Given the description of an element on the screen output the (x, y) to click on. 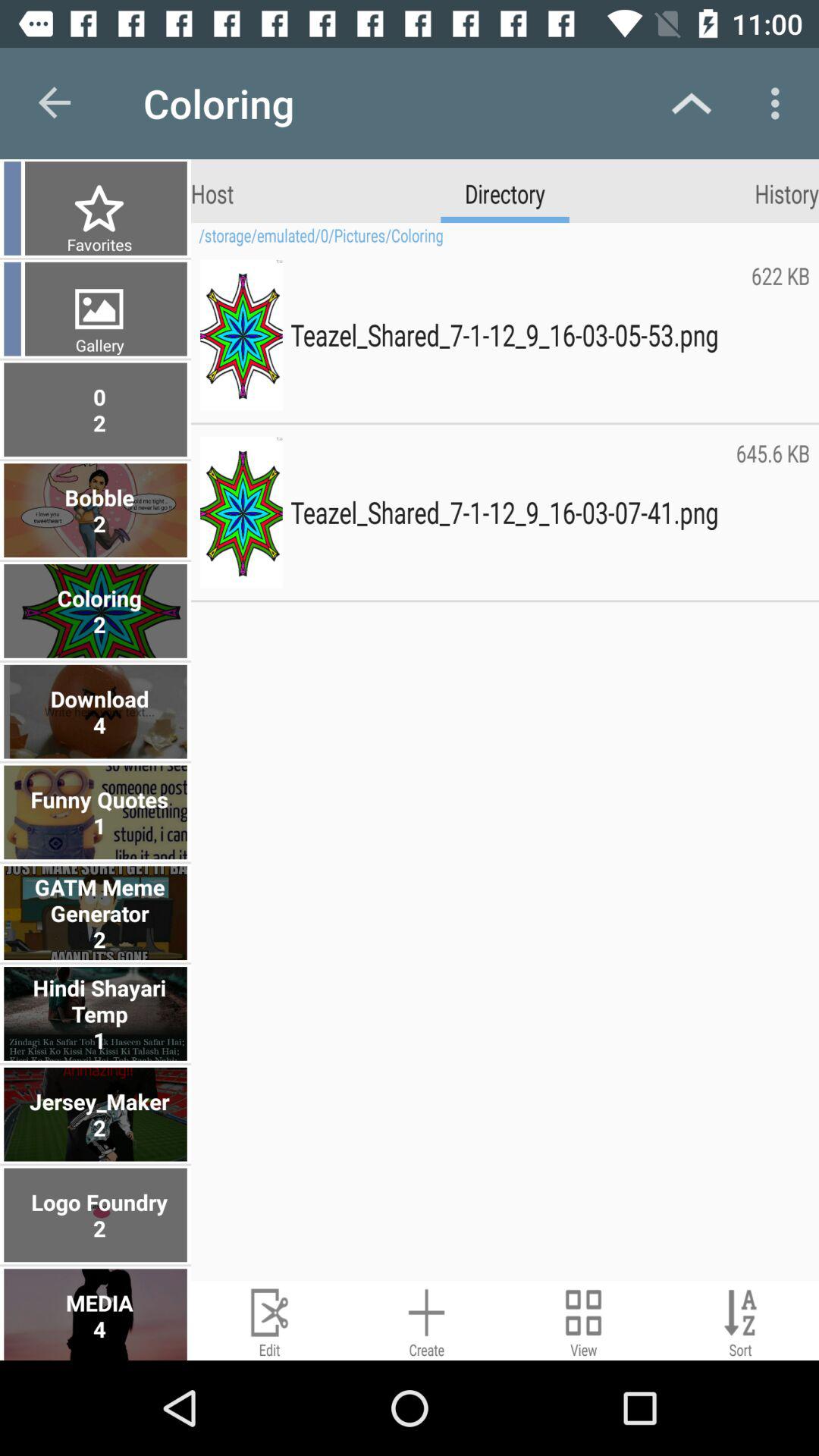
sort a to z (740, 1320)
